Given the description of an element on the screen output the (x, y) to click on. 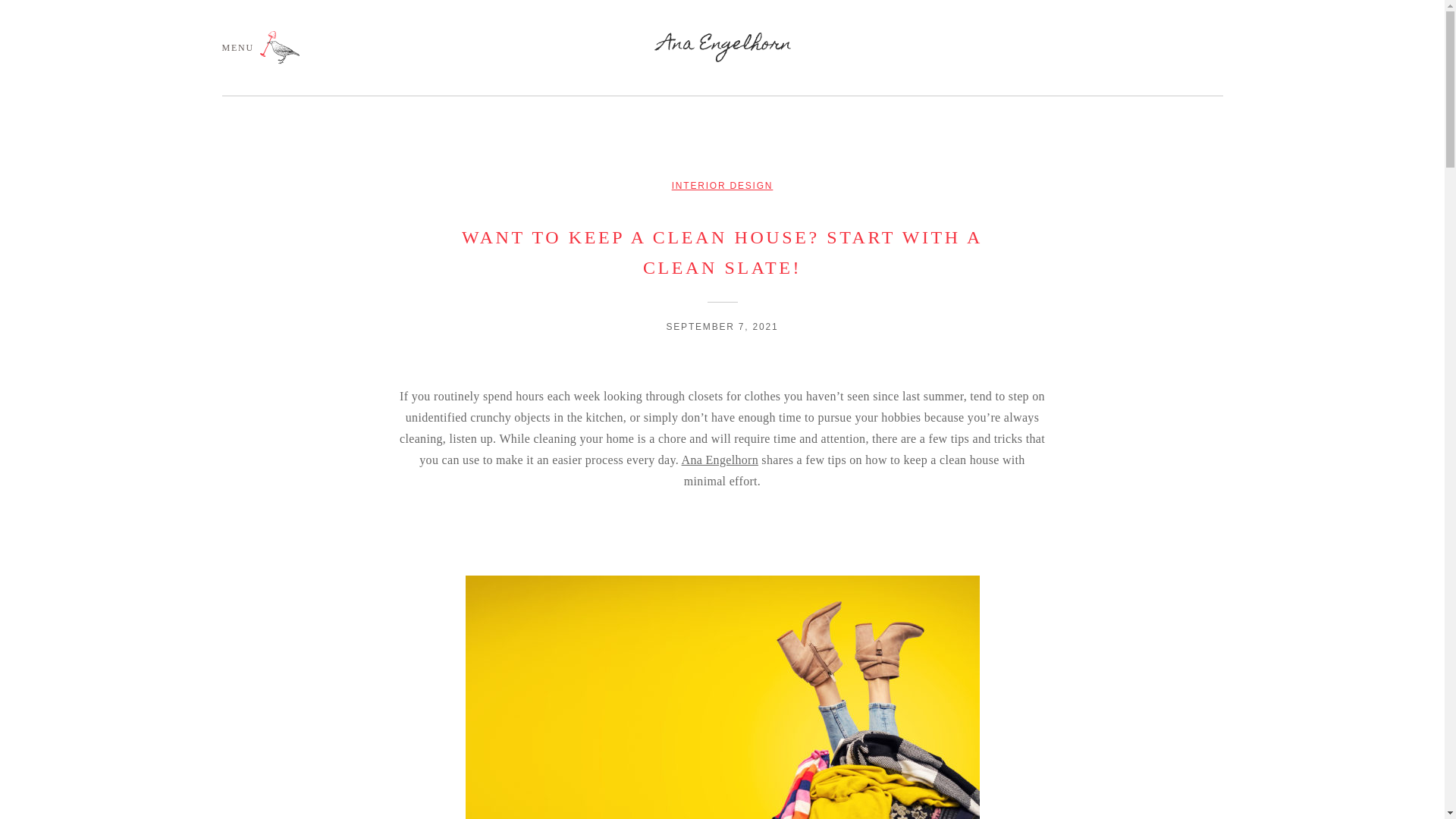
INTERIOR DESIGN (722, 185)
Ana Engelhorn (719, 459)
MENU (260, 47)
